Given the description of an element on the screen output the (x, y) to click on. 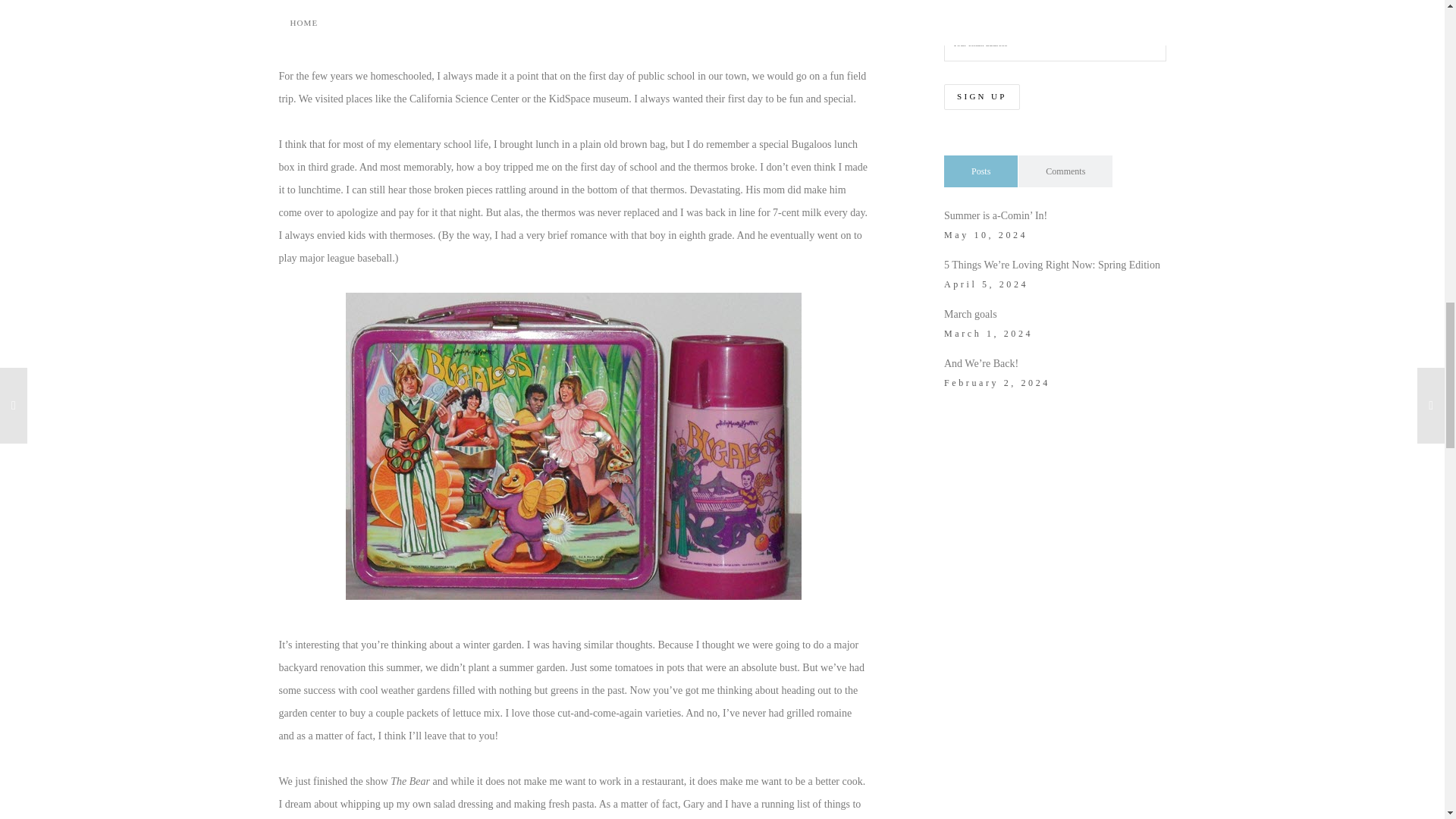
Sign up (981, 96)
Sign up (981, 96)
March goals (970, 314)
